Given the description of an element on the screen output the (x, y) to click on. 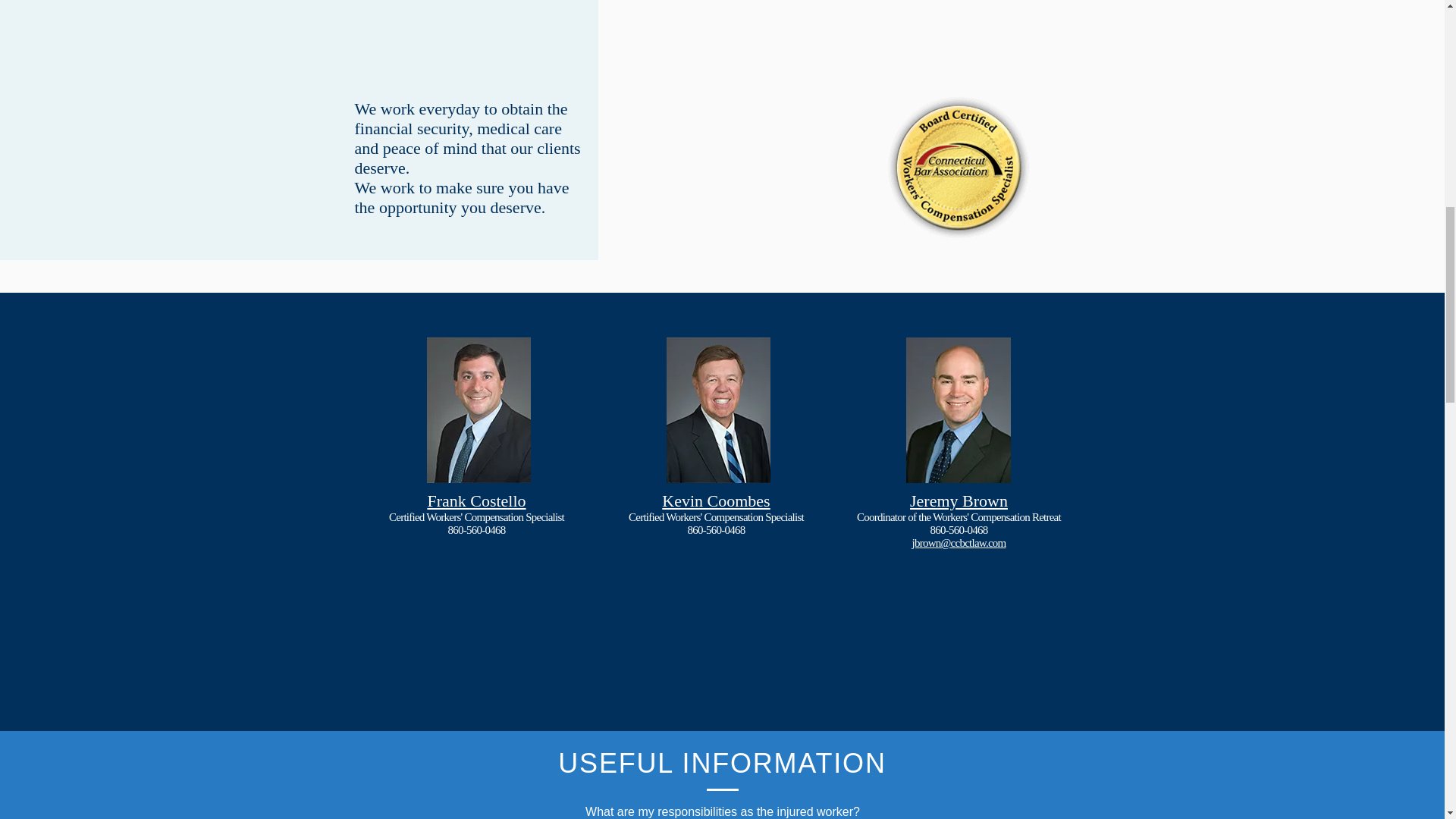
Kevin Coombes (716, 500)
